Given the description of an element on the screen output the (x, y) to click on. 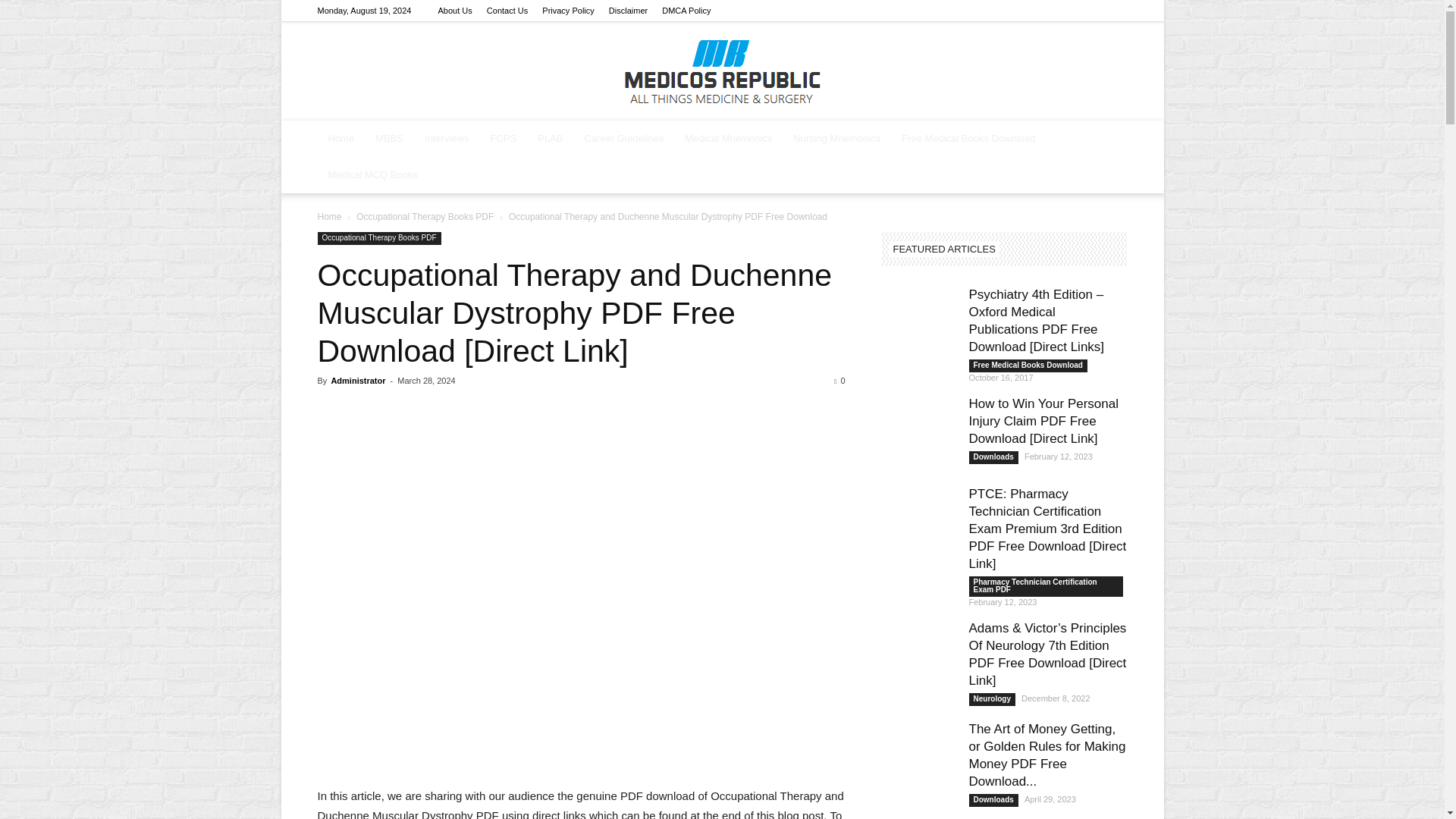
Home (341, 138)
Contact Us (506, 10)
Medicos Republic (721, 71)
View all posts in Occupational Therapy Books PDF (424, 216)
Disclaimer (627, 10)
MBBS (389, 138)
DMCA Policy (686, 10)
Privacy Policy (567, 10)
About Us (454, 10)
